Given the description of an element on the screen output the (x, y) to click on. 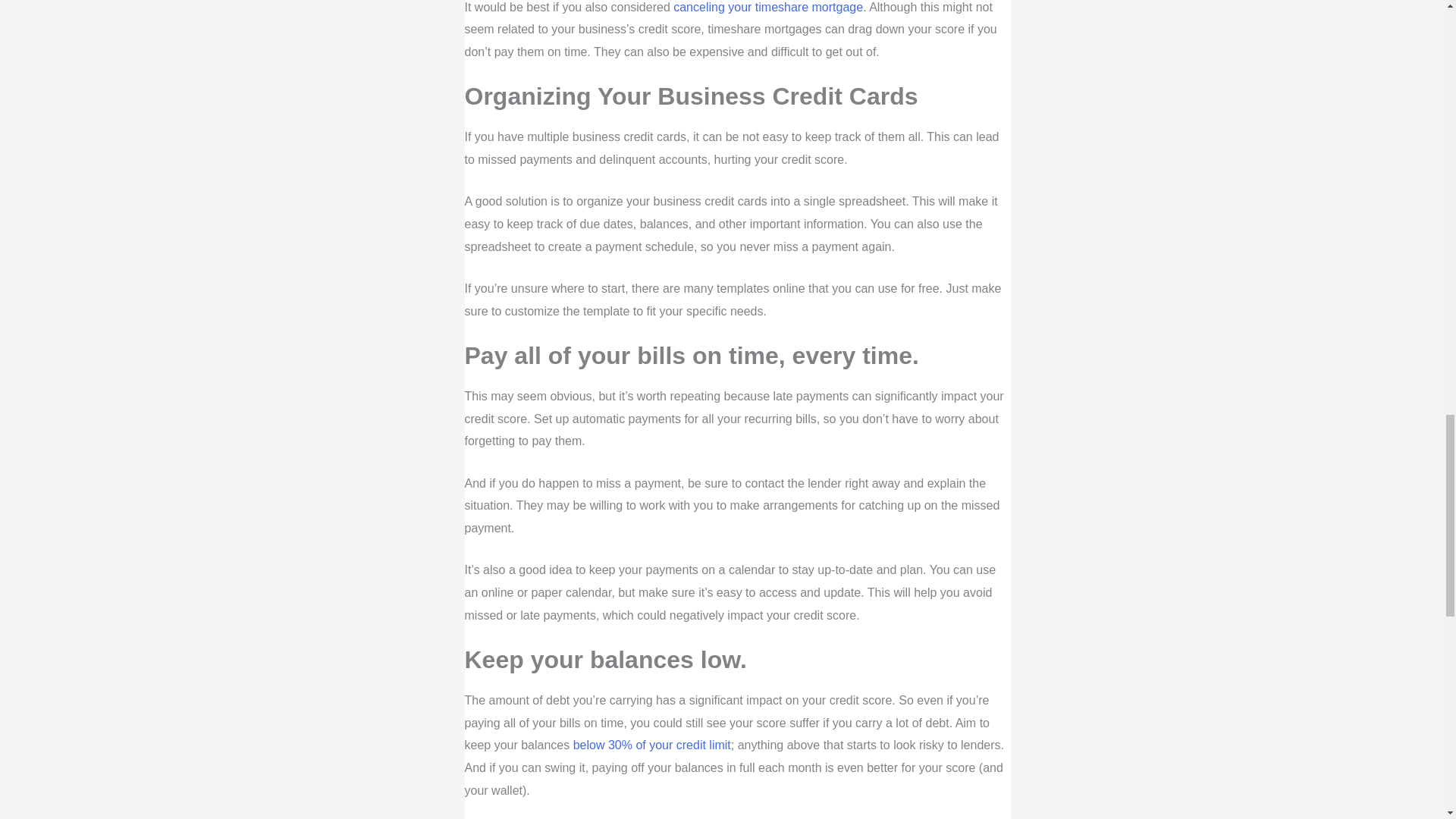
canceling your timeshare mortgage (767, 6)
